Given the description of an element on the screen output the (x, y) to click on. 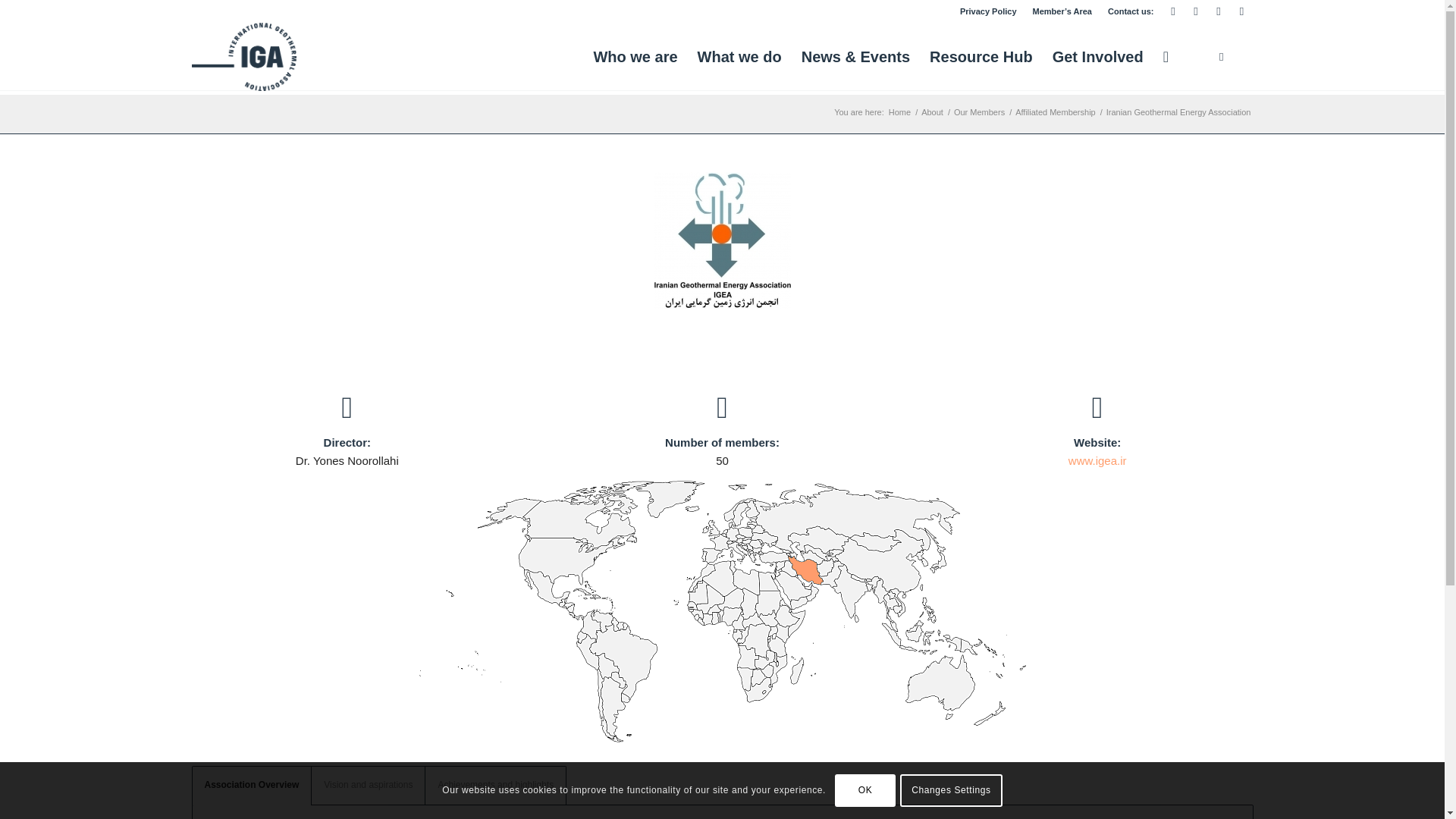
Youtube (1217, 11)
International Geothermal Association (899, 112)
What we do (739, 56)
Our Members (979, 112)
Rss (1241, 11)
Get Involved (1097, 56)
Mail (1172, 11)
Contact us: (1131, 11)
About (931, 112)
Affiliated Membership (1055, 112)
Resource Hub (981, 56)
IGEA (721, 239)
LinkedIn (1196, 11)
Who we are (635, 56)
Privacy Policy (987, 11)
